Given the description of an element on the screen output the (x, y) to click on. 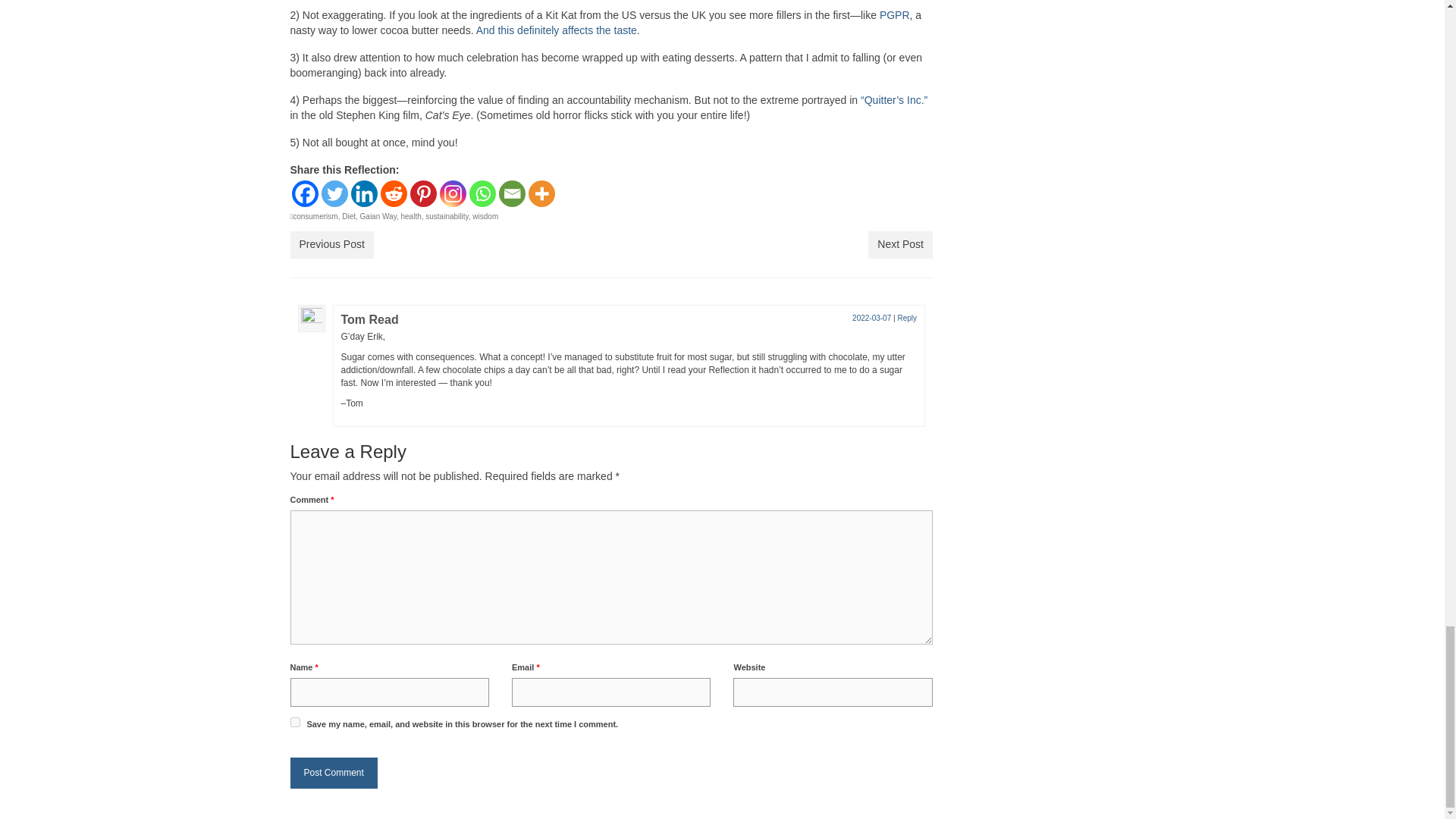
Post Comment (333, 772)
And this definitely affects the taste (556, 30)
Reddit (393, 193)
Twitter (334, 193)
Instagram (452, 193)
Email (512, 193)
PGPR (894, 15)
Linkedin (363, 193)
yes (294, 722)
Pinterest (422, 193)
